Given the description of an element on the screen output the (x, y) to click on. 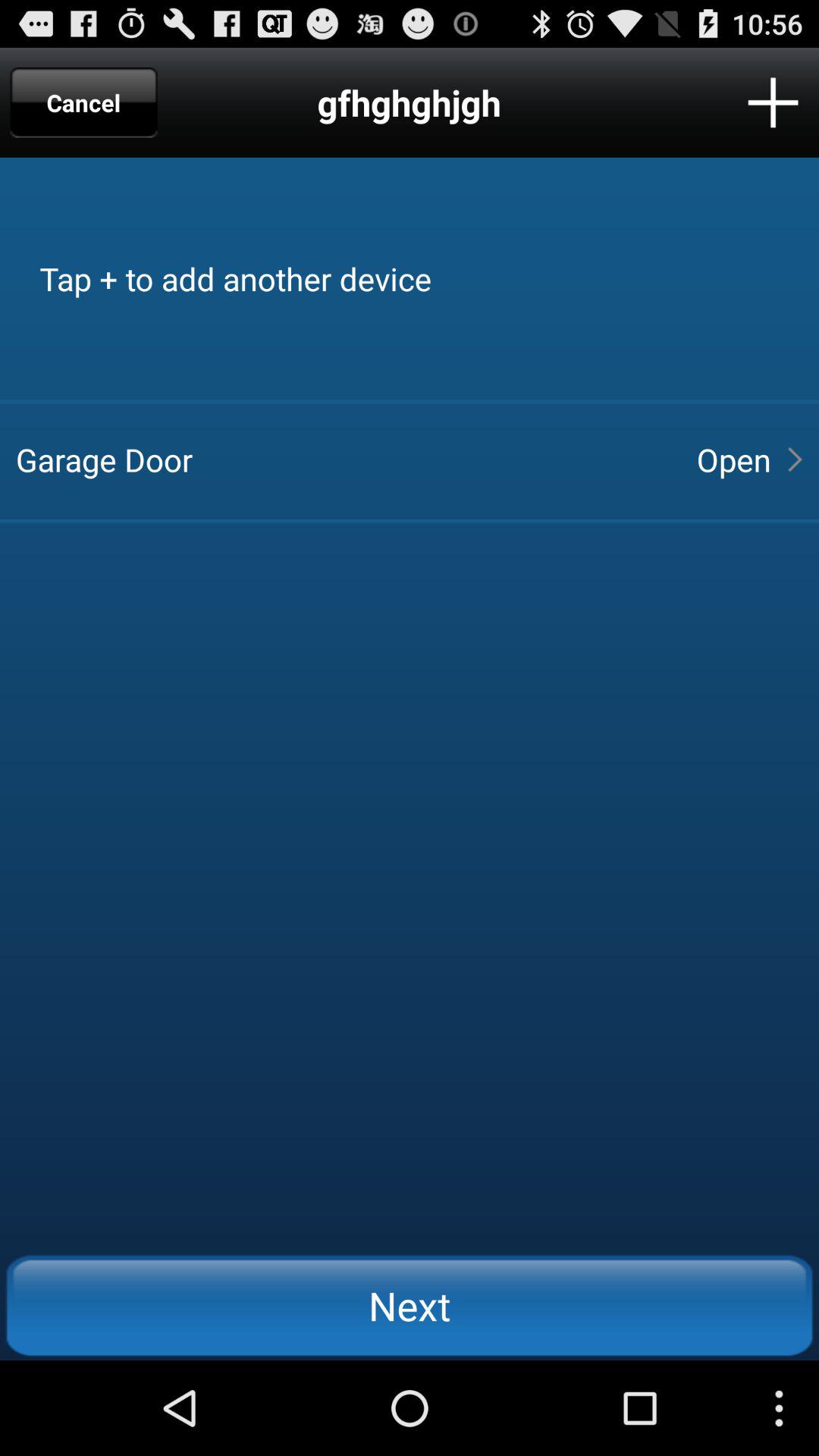
click icon next to the gfhghghjgh item (773, 102)
